Given the description of an element on the screen output the (x, y) to click on. 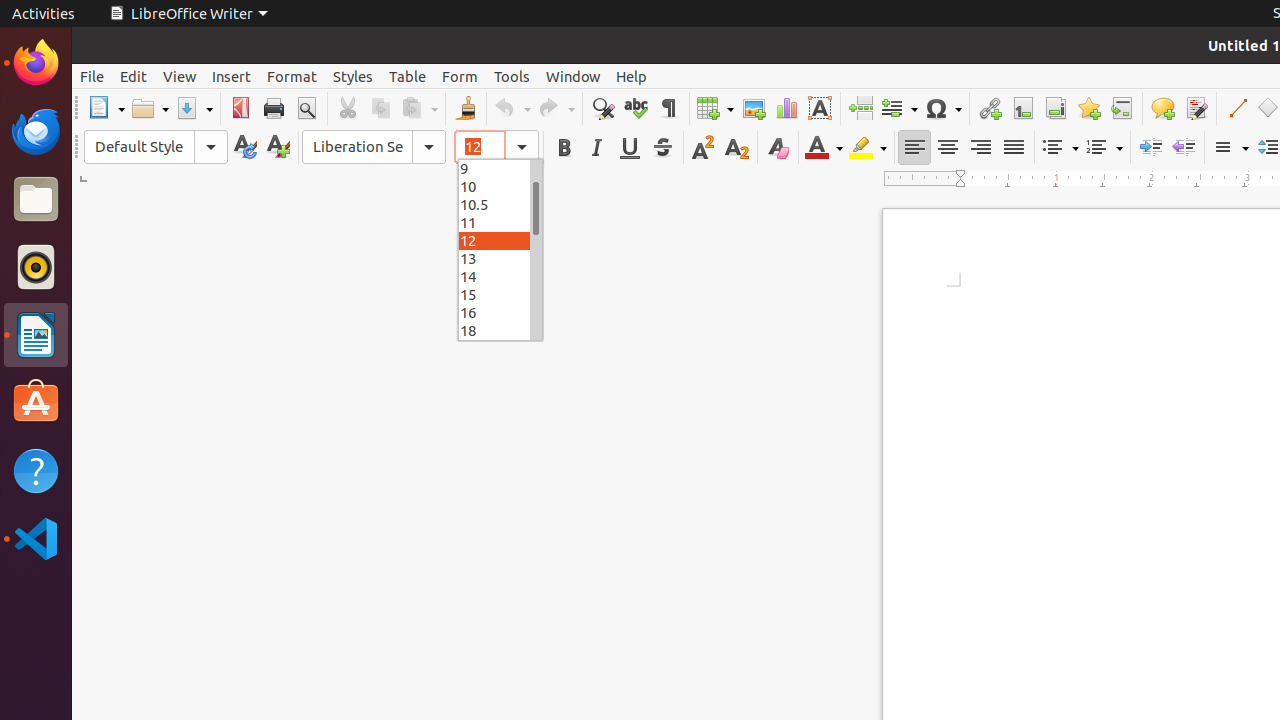
Update Element type: push-button (244, 147)
18 Element type: list-item (500, 330)
Find & Replace Element type: toggle-button (602, 108)
10 Element type: list-item (500, 186)
Formatting Marks Element type: toggle-button (668, 108)
